Given the description of an element on the screen output the (x, y) to click on. 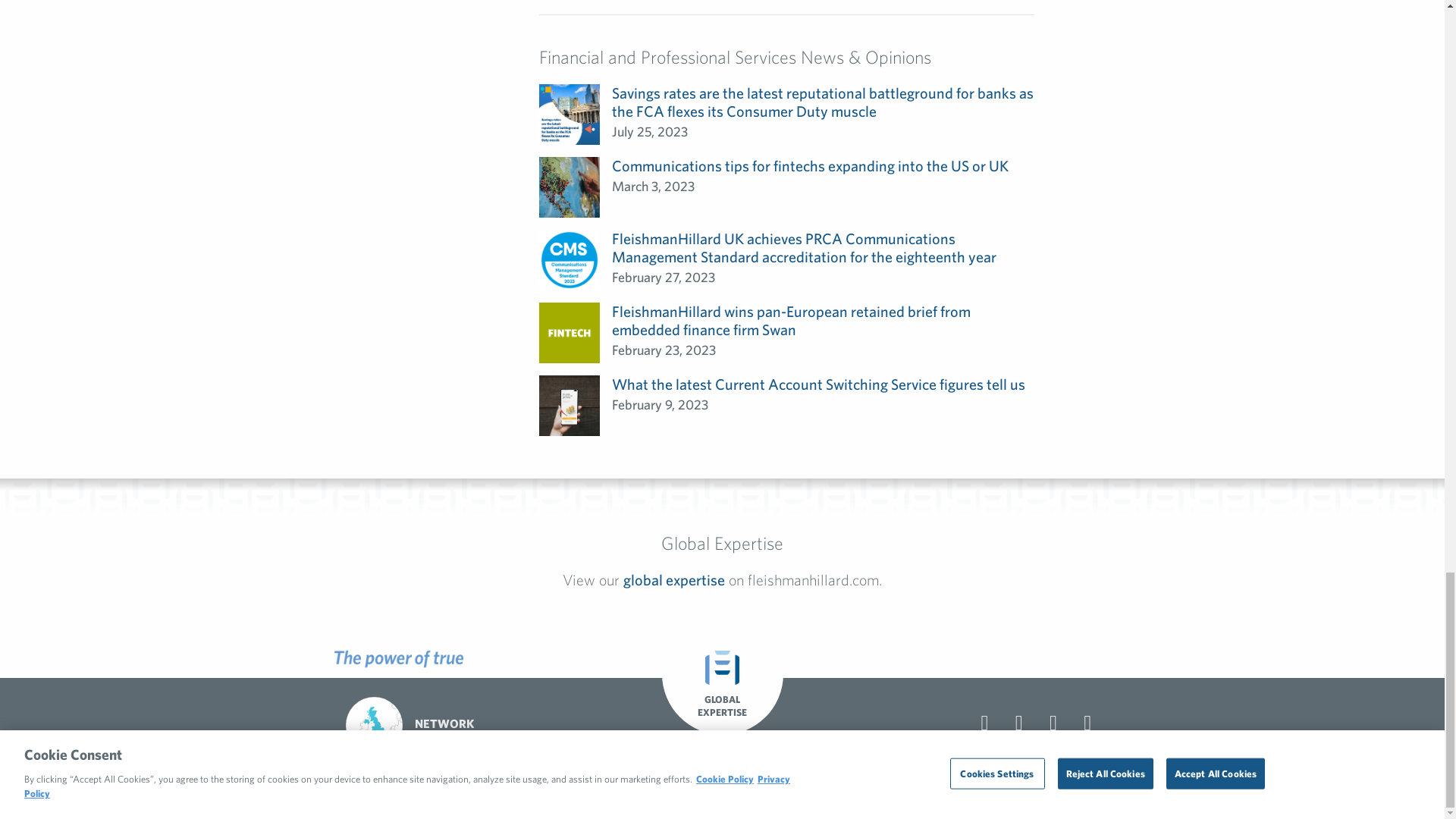
Communications tips for fintechs expanding into the US or UK (810, 165)
Go to contact page (984, 722)
